Given the description of an element on the screen output the (x, y) to click on. 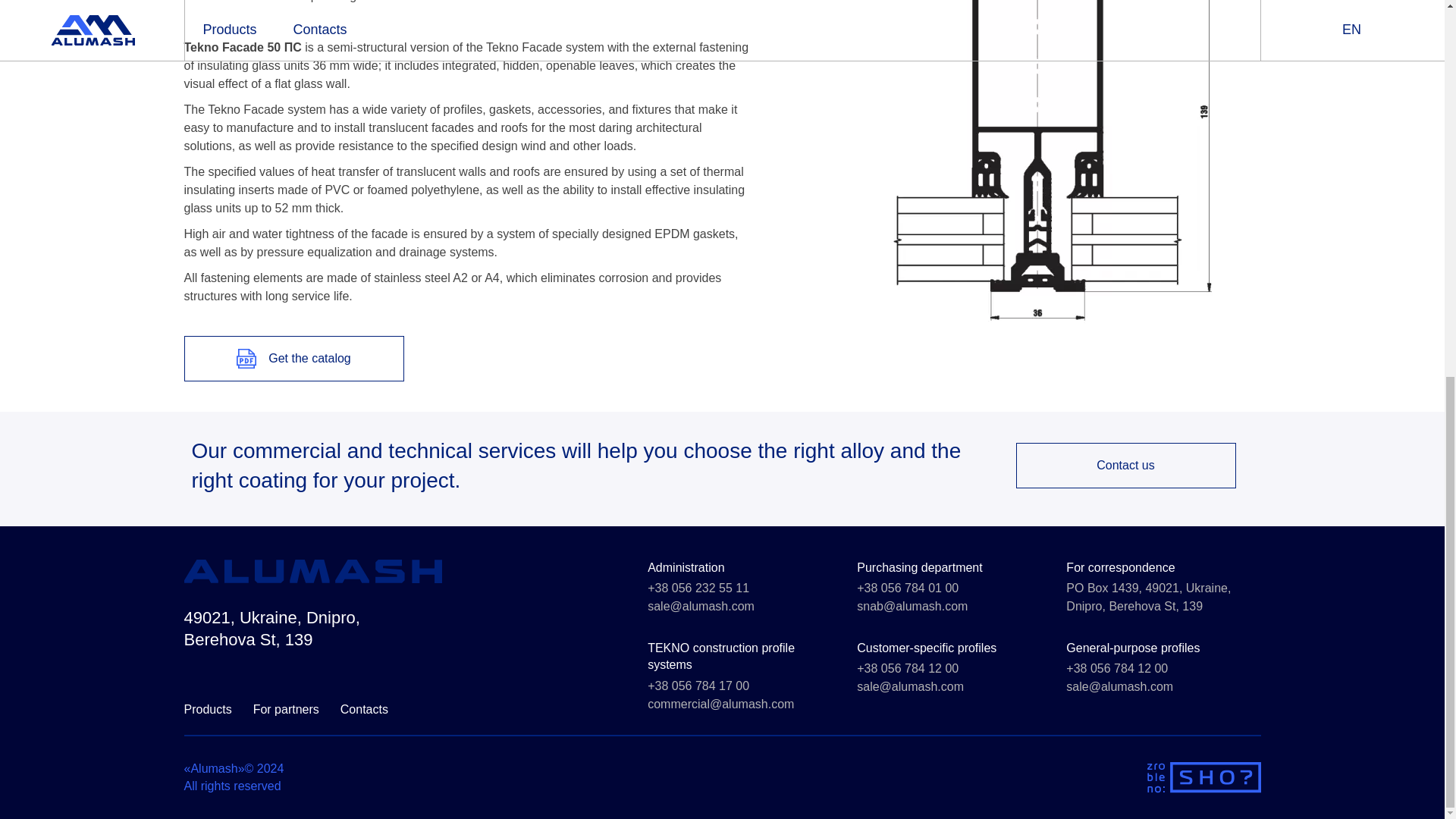
Products (207, 717)
For partners (285, 717)
Contact us (1126, 465)
Contacts (364, 717)
Made by SHO (1203, 777)
Get the catalog (293, 358)
